Given the description of an element on the screen output the (x, y) to click on. 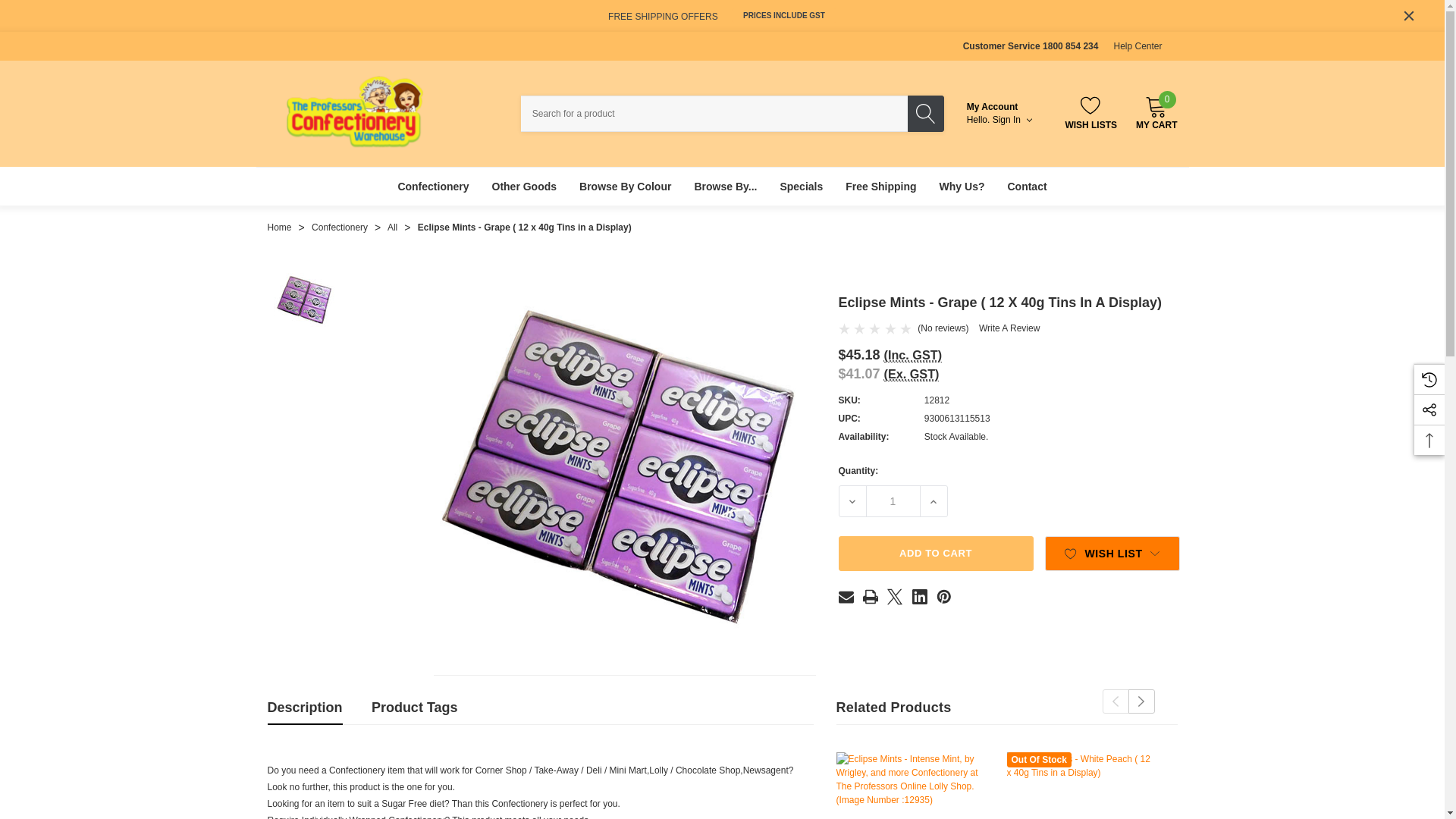
Sign In (1013, 119)
Excluding Tax (911, 373)
icon chevron down (1154, 552)
Confectionery (432, 186)
Help Center (1137, 45)
YOUR CART YOUR CART (1155, 106)
Close Close (1409, 15)
Help Center (1137, 45)
icon search (925, 113)
Customer Service 1800 854 234 (1030, 45)
Close Close (1155, 112)
icon heart (1408, 15)
Including Tax (1070, 553)
Customer Service 1800 854 234 (912, 355)
